Given the description of an element on the screen output the (x, y) to click on. 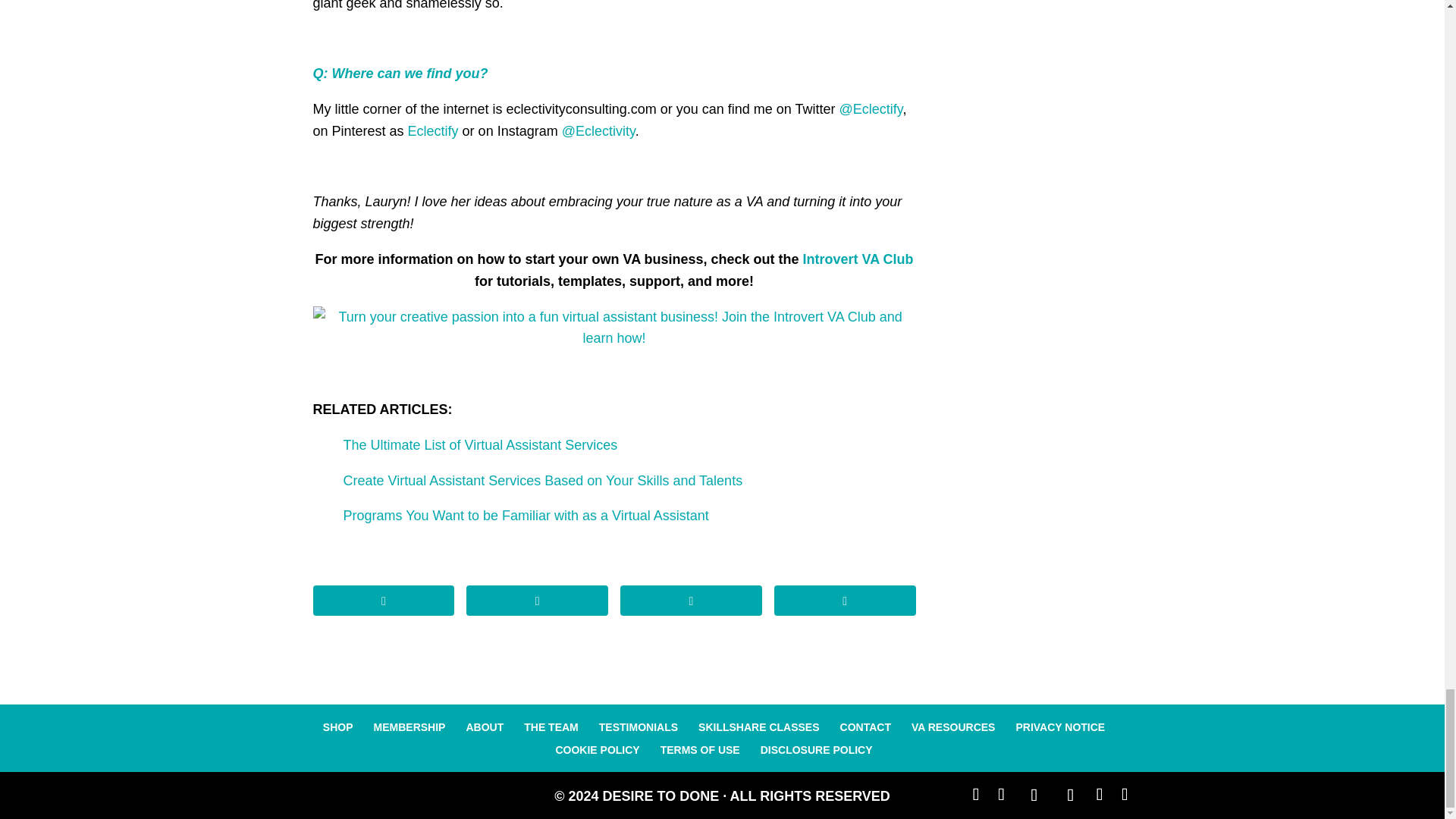
The Ultimate List of Virtual Assistant Services (479, 444)
Introvert VA Club (858, 258)
Eclectify (432, 130)
Programs You Want to be Familiar with as a Virtual Assistant (524, 515)
